Given the description of an element on the screen output the (x, y) to click on. 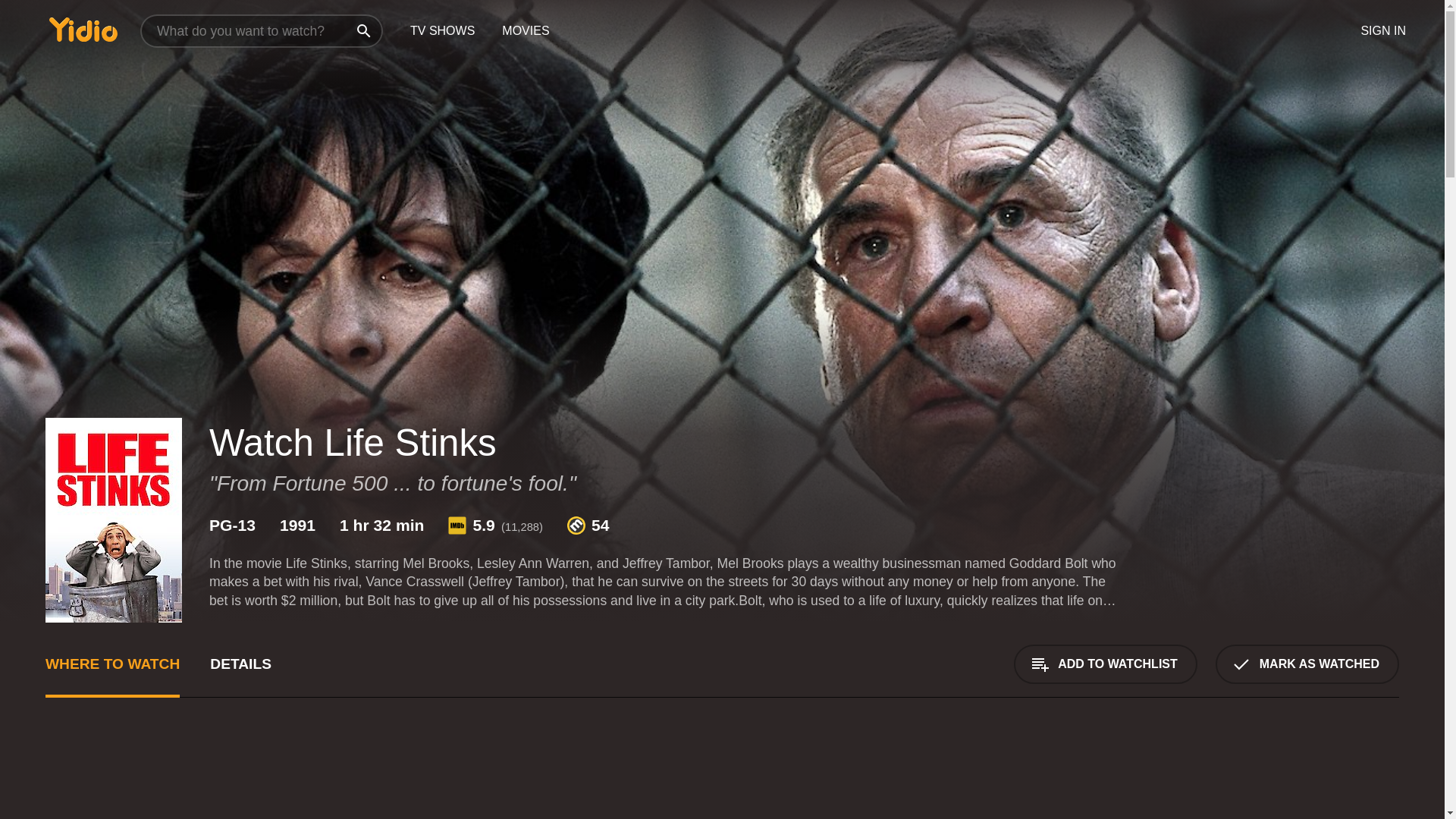
Advertisement (1285, 776)
TV SHOWS (441, 31)
ADD TO WATCHLIST (1104, 663)
MARK AS WATCHED (1307, 663)
MOVIES (524, 31)
Advertisement (500, 776)
Yidio (82, 29)
